Given the description of an element on the screen output the (x, y) to click on. 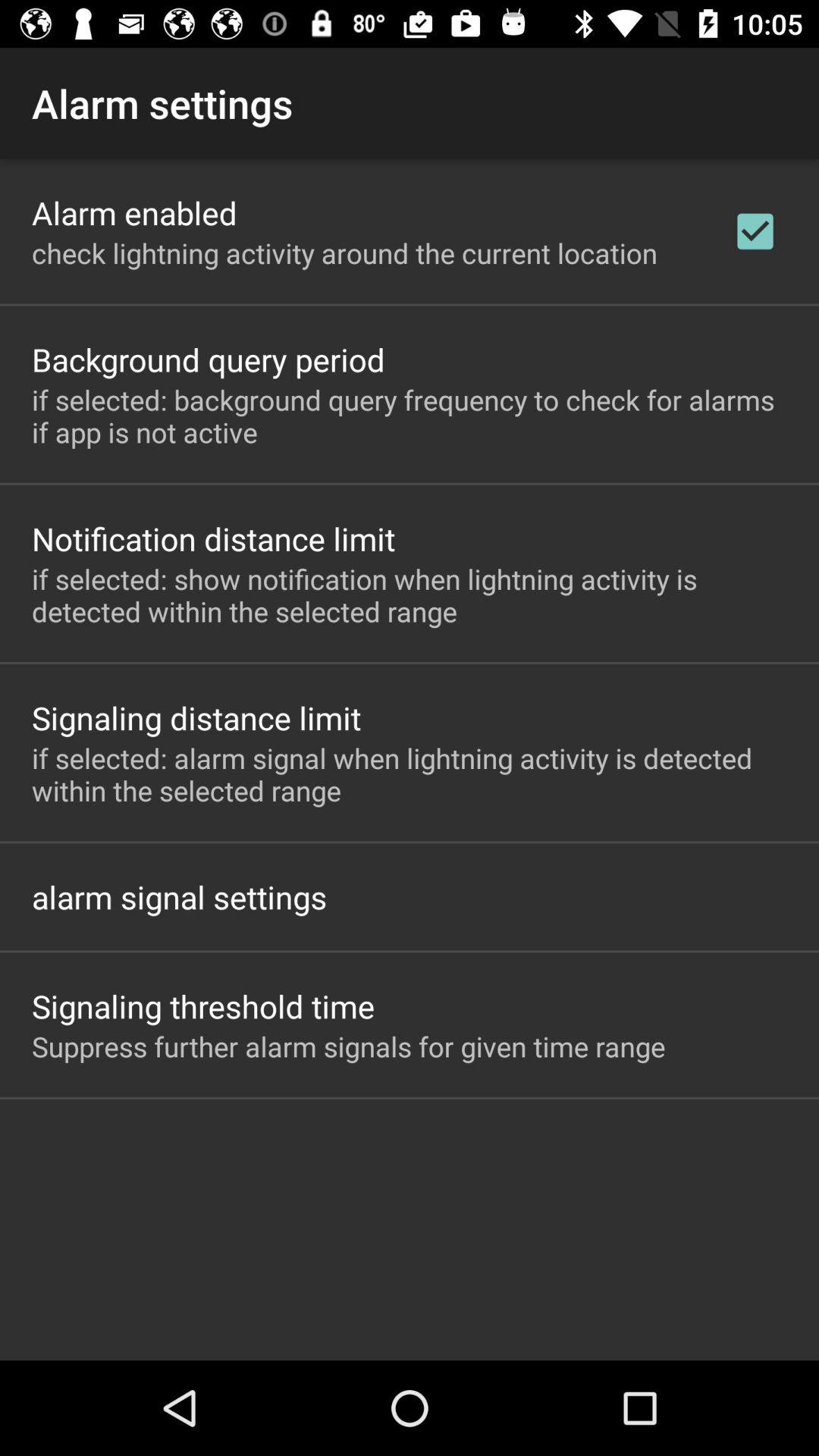
turn on suppress further alarm icon (348, 1046)
